Given the description of an element on the screen output the (x, y) to click on. 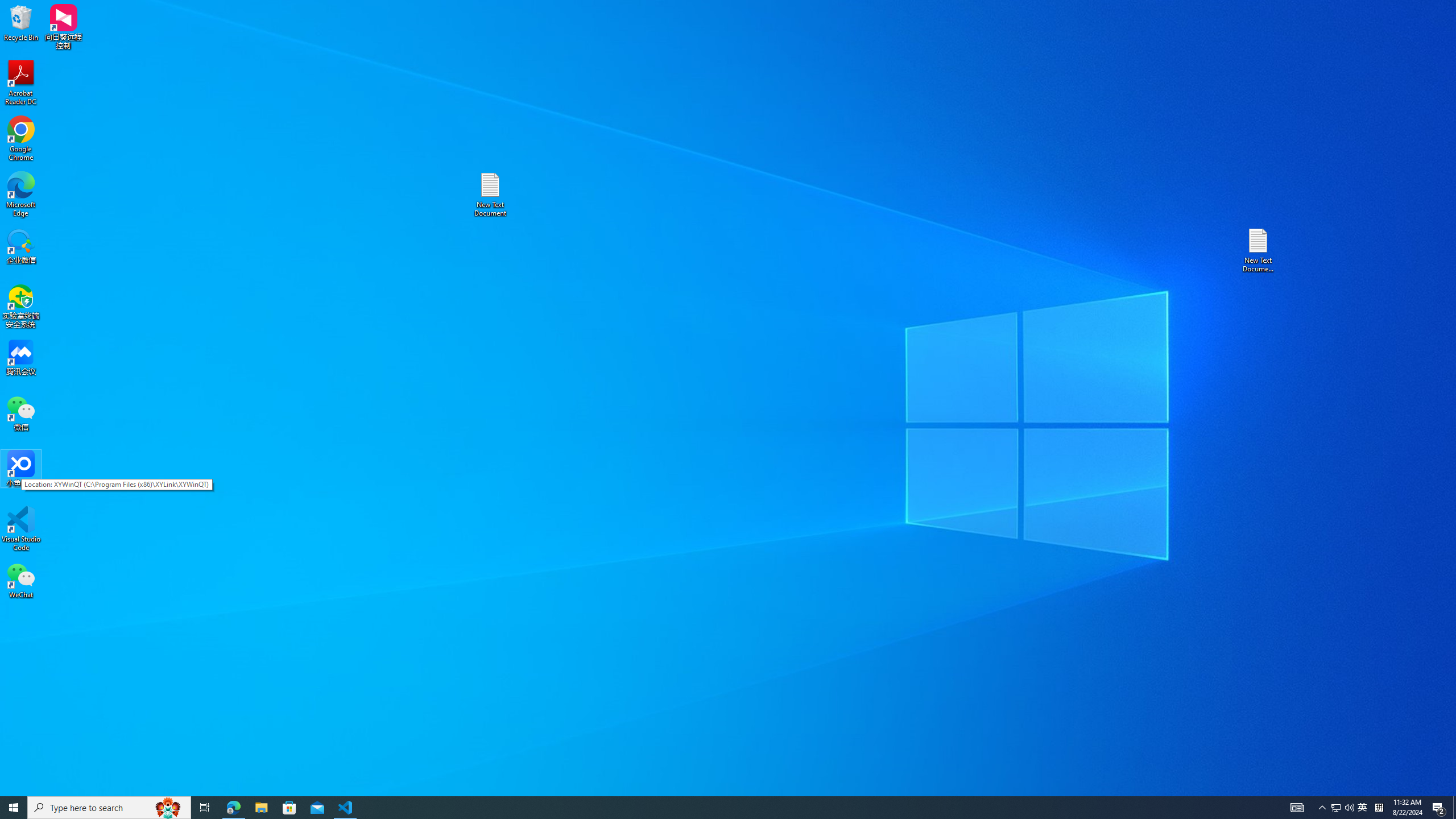
Microsoft Store (289, 807)
Recycle Bin (21, 22)
Visual Studio Code (21, 528)
